Given the description of an element on the screen output the (x, y) to click on. 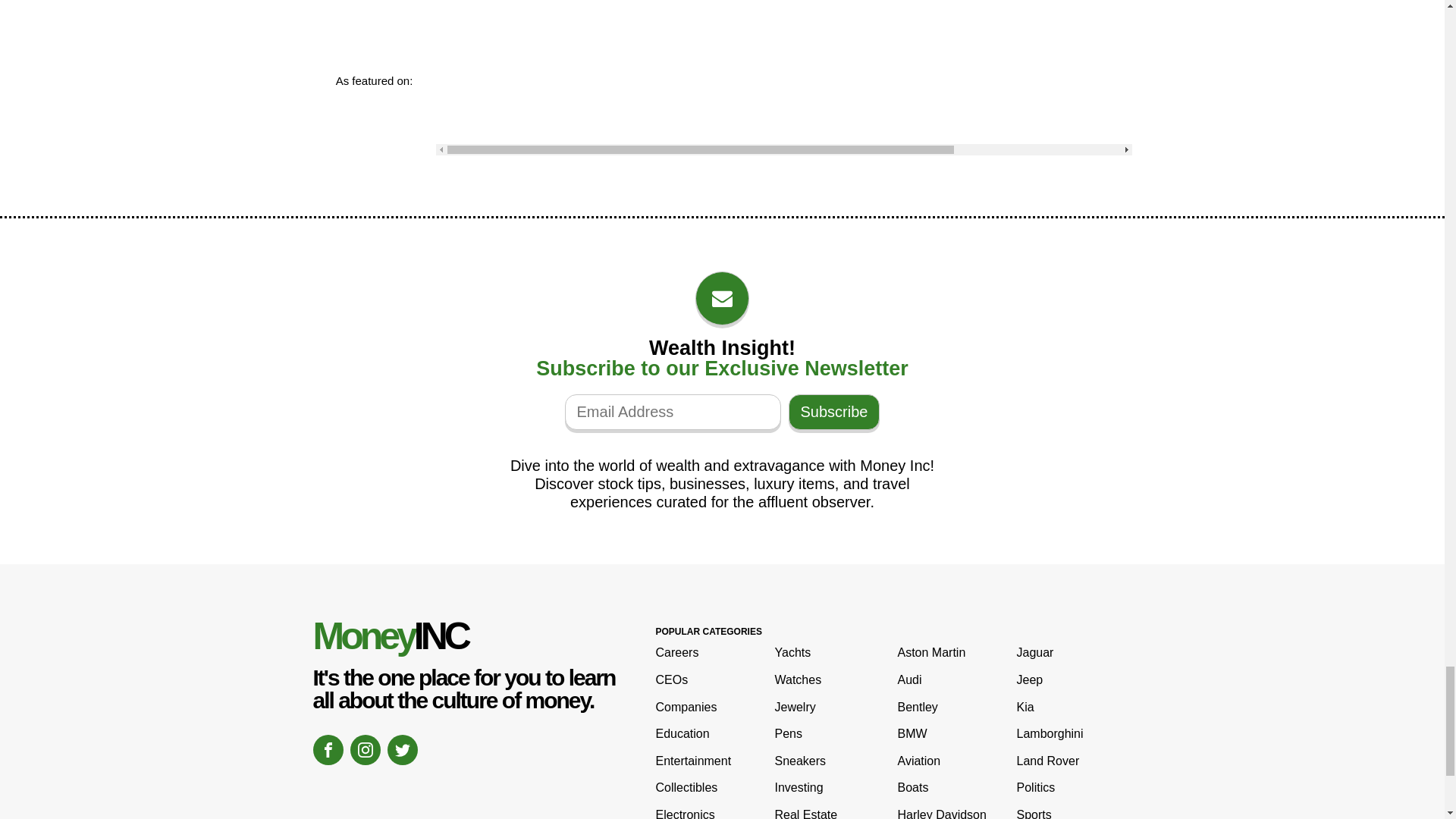
Subscribe (834, 411)
